Given the description of an element on the screen output the (x, y) to click on. 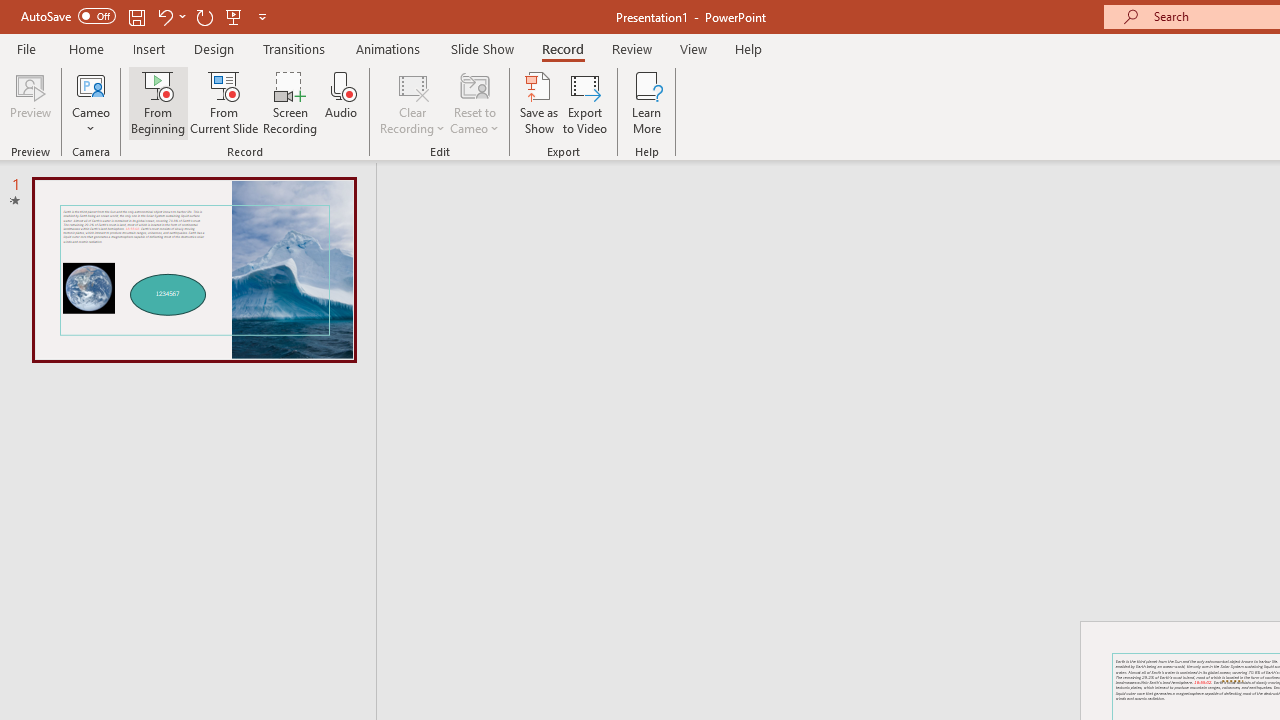
Learn More (646, 102)
Export to Video (585, 102)
Audio (341, 102)
Clear Recording (412, 102)
